Given the description of an element on the screen output the (x, y) to click on. 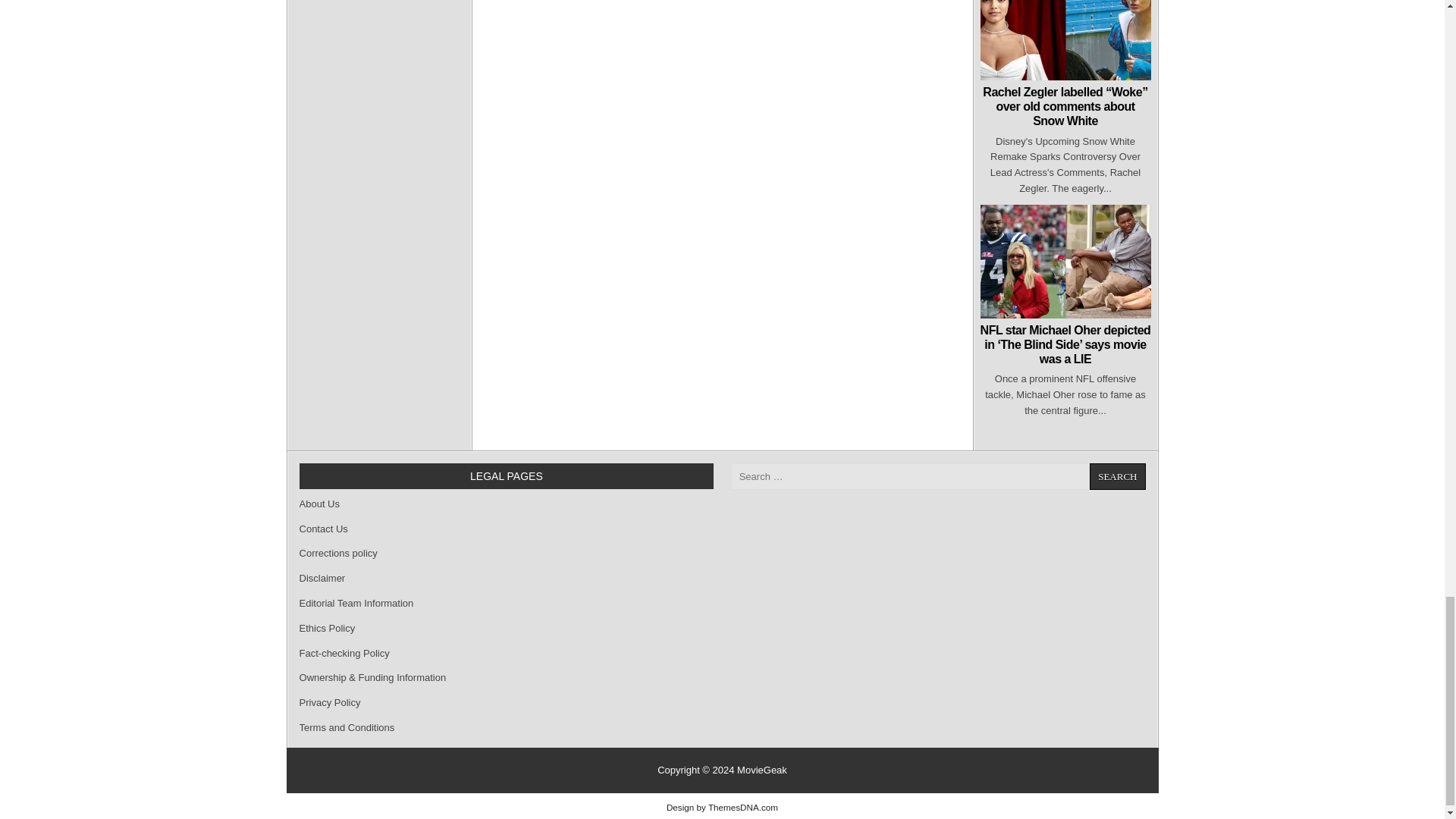
Search (1116, 476)
Search (1116, 476)
